Given the description of an element on the screen output the (x, y) to click on. 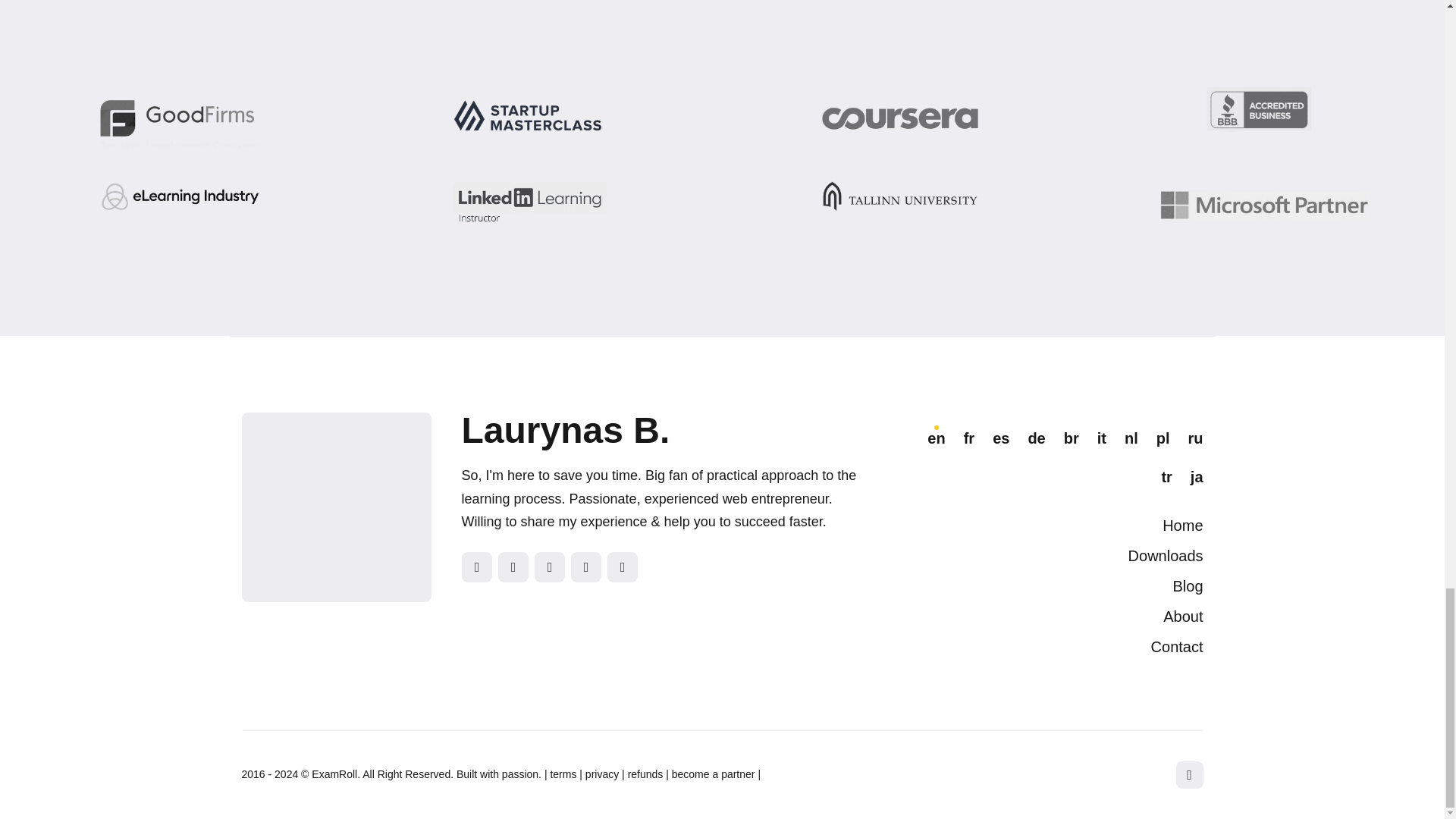
Downloads (1166, 555)
Home (1181, 524)
Top (1188, 774)
